Given the description of an element on the screen output the (x, y) to click on. 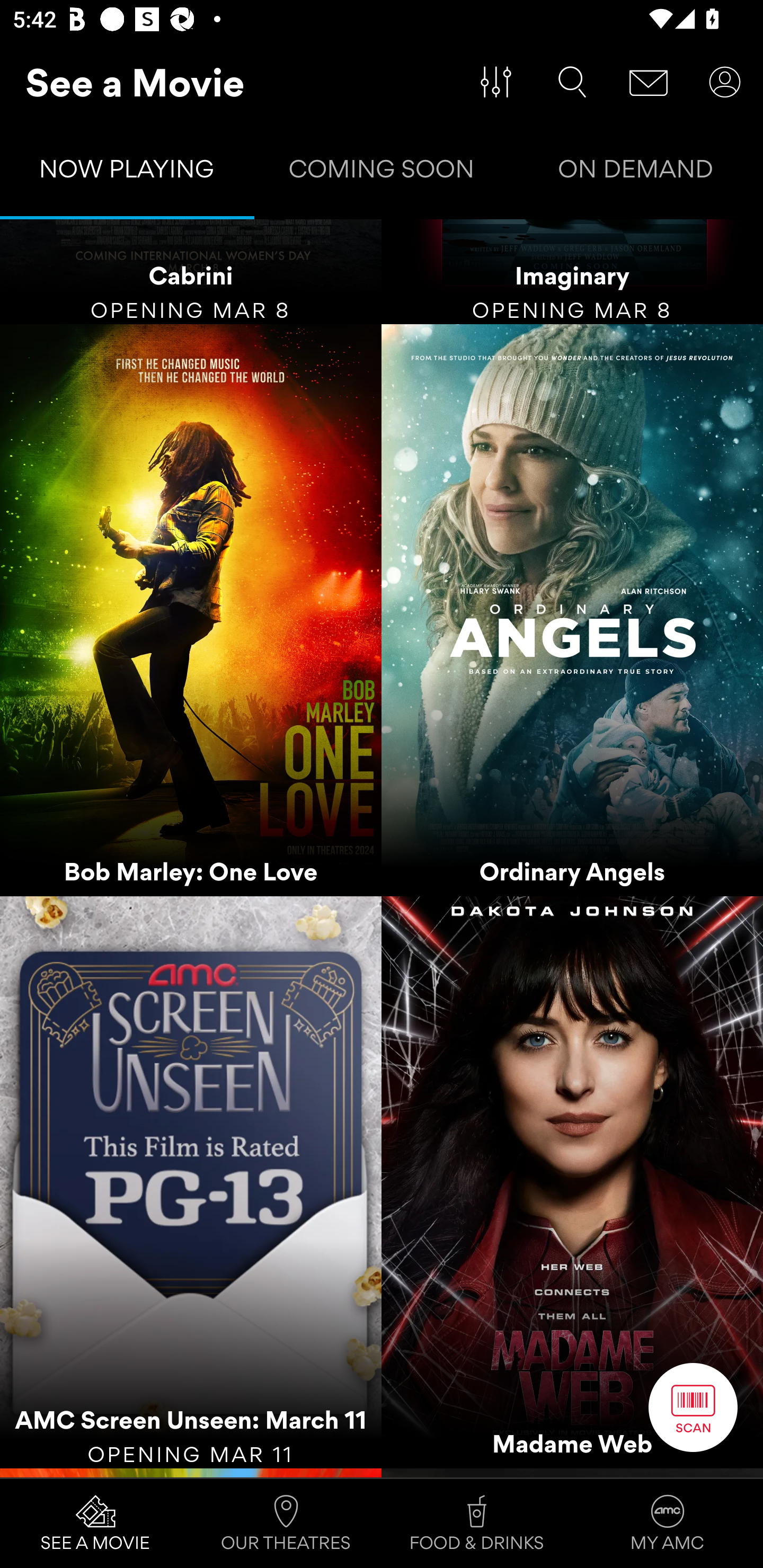
Filter Movies (495, 82)
Search (572, 82)
Message Center (648, 82)
User Account (724, 82)
NOW PLAYING
Tab 1 of 3 (127, 173)
COMING SOON
Tab 2 of 3 (381, 173)
ON DEMAND
Tab 3 of 3 (635, 173)
Cabrini
OPENING MAR 8 (190, 271)
Imaginary
OPENING MAR 8 (572, 271)
Bob Marley: One Love (190, 610)
Ordinary Angels (572, 610)
AMC Screen Unseen: March 11
OPENING MAR 11 (190, 1181)
Madame Web (572, 1181)
Scan Button (692, 1406)
SEE A MOVIE
Tab 1 of 4 (95, 1523)
OUR THEATRES
Tab 2 of 4 (285, 1523)
FOOD & DRINKS
Tab 3 of 4 (476, 1523)
MY AMC
Tab 4 of 4 (667, 1523)
